Given the description of an element on the screen output the (x, y) to click on. 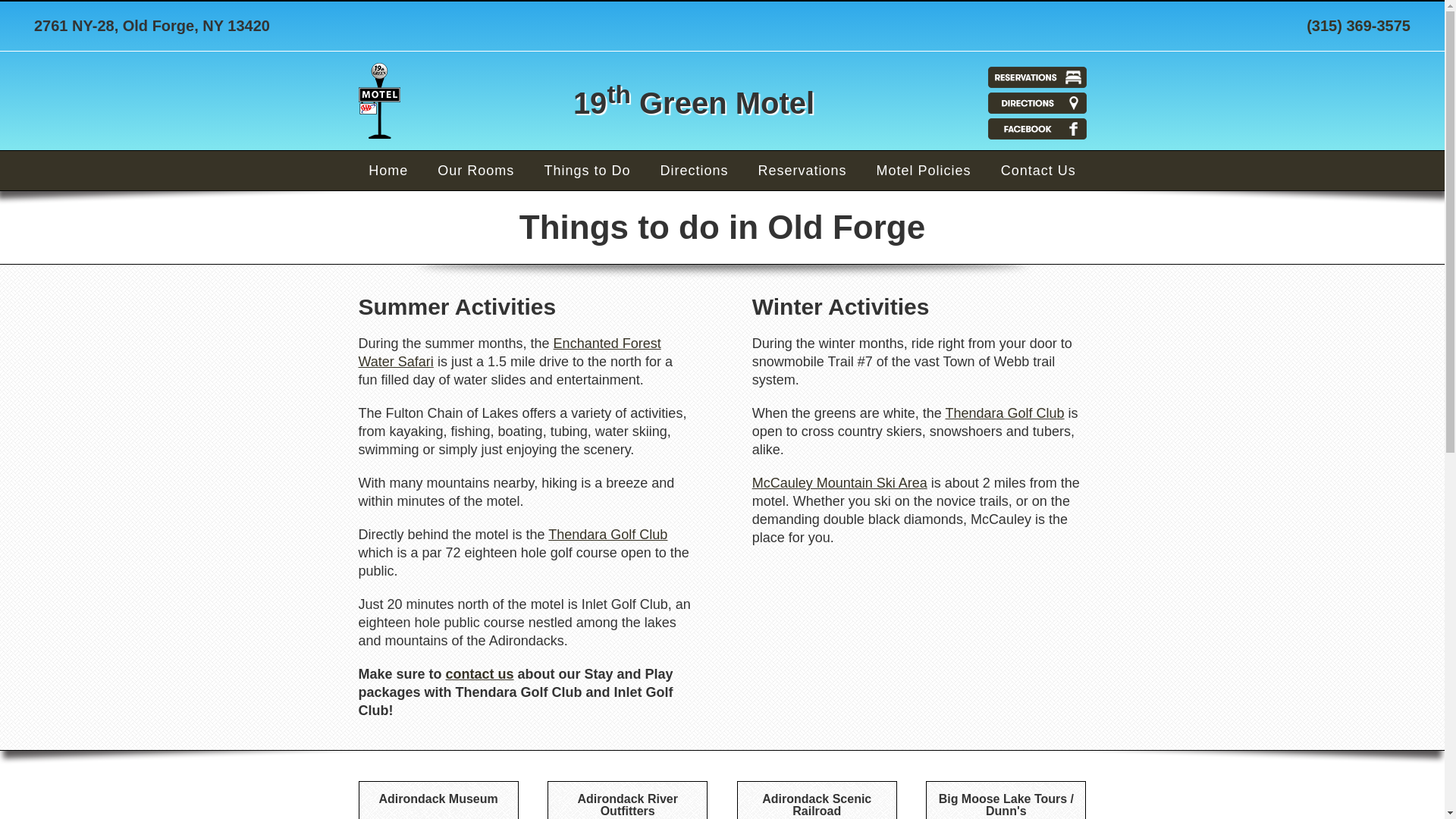
Make a reservation Element type: hover (1036, 76)
Reservations Element type: text (802, 170)
Thendara Golf Club Element type: text (607, 534)
Home Element type: text (387, 170)
contact us Element type: text (479, 673)
Our Rooms Element type: text (475, 170)
Thendara Golf Club Element type: text (1004, 412)
Directions Element type: text (693, 170)
Like and follow us on Facebook Element type: hover (1036, 128)
Return to the home page Element type: hover (378, 100)
(315) 369-3575 Element type: text (1358, 25)
Get directions Element type: hover (1036, 102)
Motel Policies Element type: text (923, 170)
Contact Us Element type: text (1038, 170)
McCauley Mountain Ski Area Element type: text (839, 482)
Enchanted Forest Water Safari Element type: text (508, 352)
Things to Do Element type: text (586, 170)
